Given the description of an element on the screen output the (x, y) to click on. 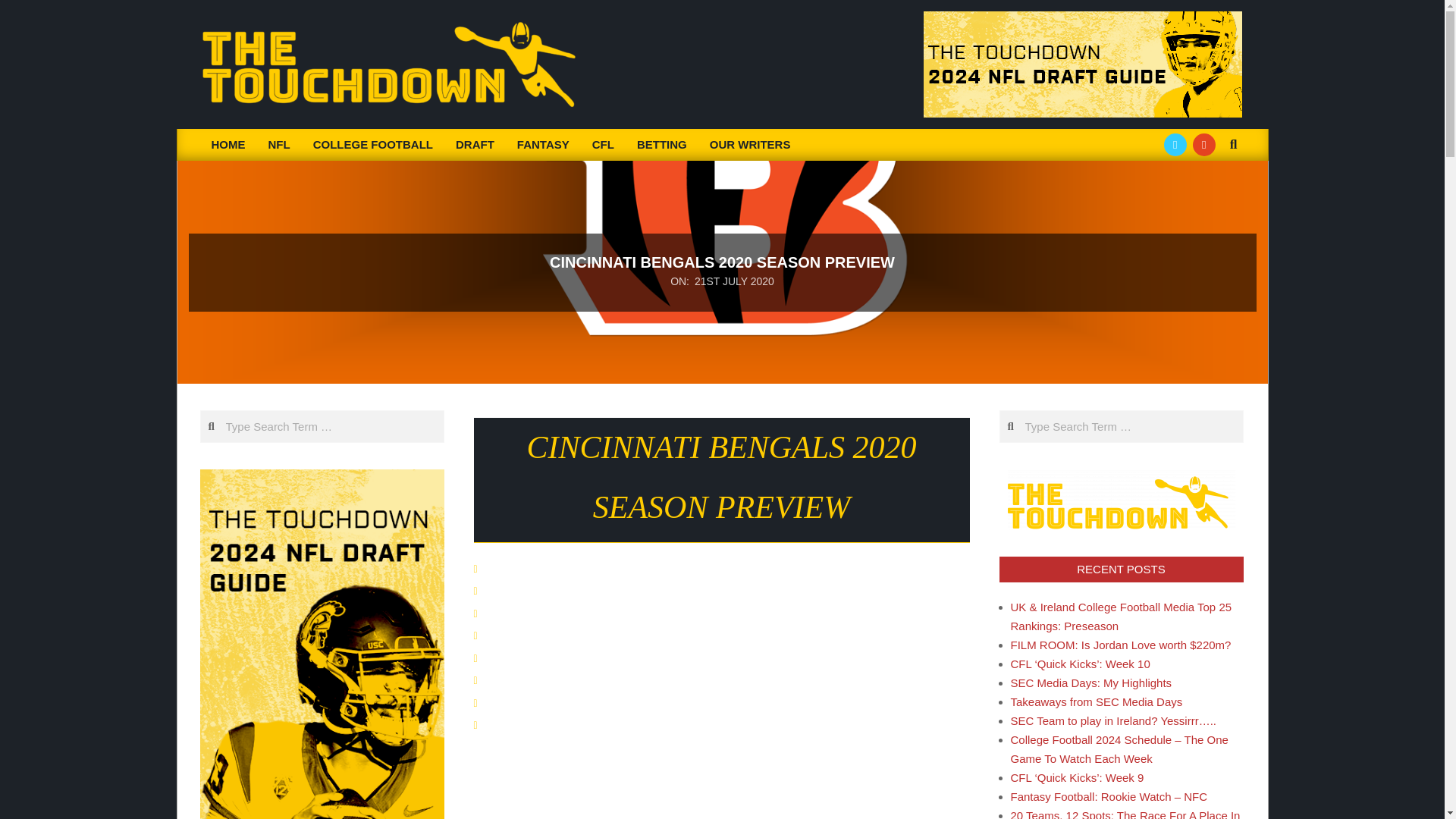
NFL (278, 144)
CFL (603, 144)
SEC Media Days: My Highlights (1091, 682)
FANTASY (542, 144)
Search (24, 9)
OUR WRITERS (750, 144)
DRAFT (474, 144)
Takeaways from SEC Media Days (1096, 701)
Tuesday, July 21, 2020, 11:00 am (734, 281)
